Given the description of an element on the screen output the (x, y) to click on. 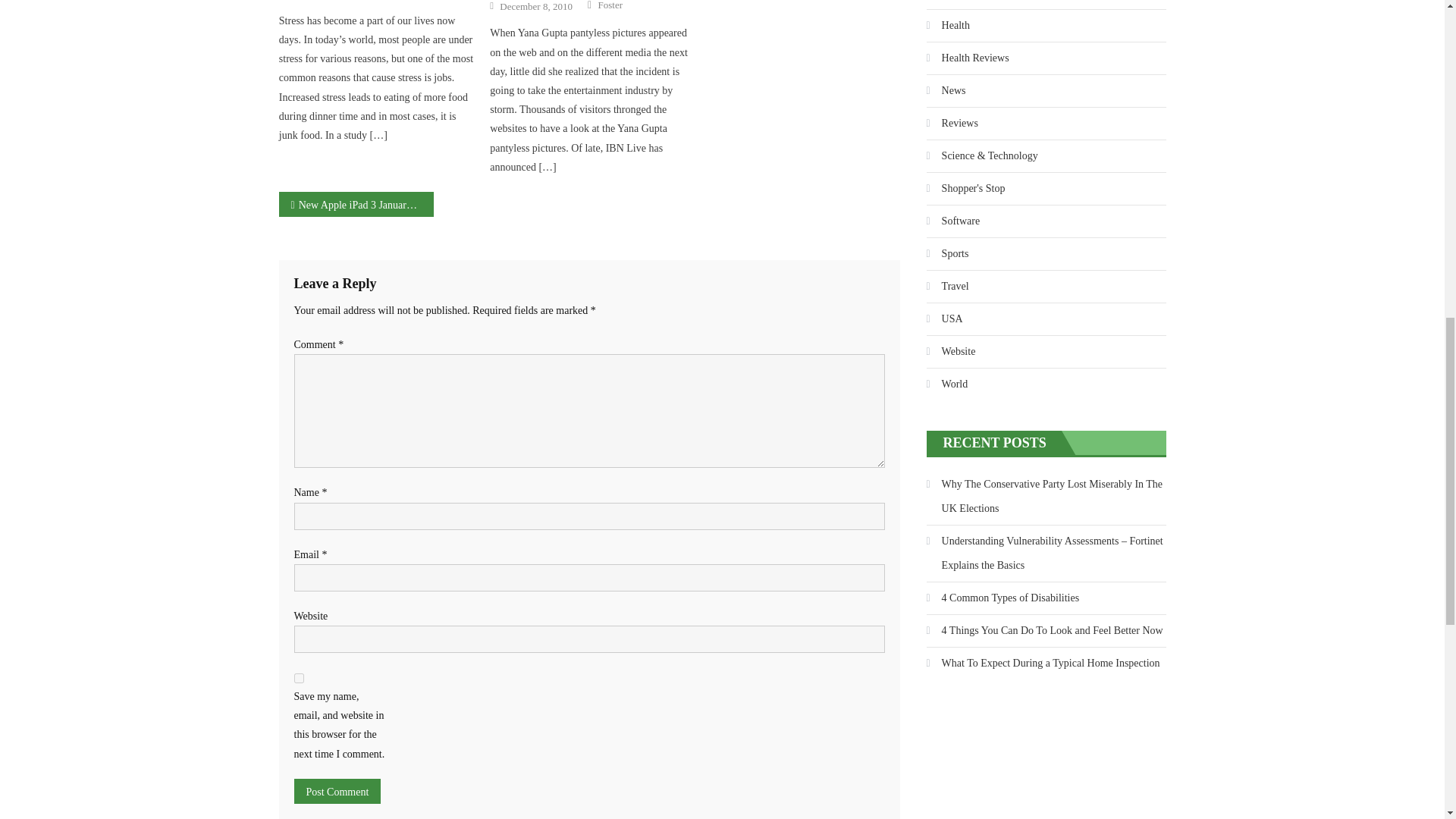
Foster (610, 6)
yes (299, 678)
December 8, 2010 (535, 6)
New Apple iPad 3 January Release: Is it Rumor or Fact? (356, 204)
Post Comment (337, 790)
June 27, 2017 (315, 0)
Post Comment (337, 790)
